Given the description of an element on the screen output the (x, y) to click on. 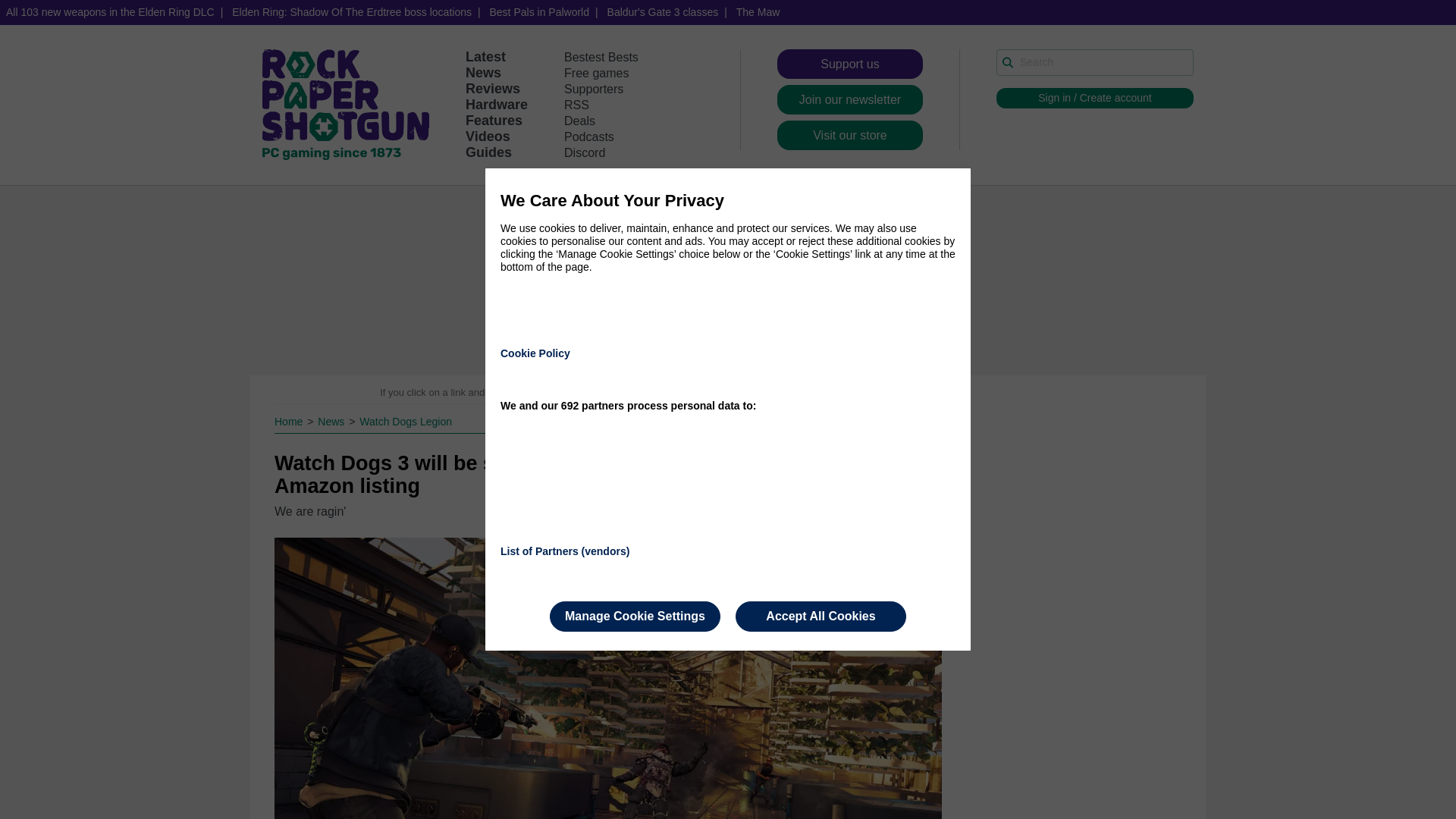
Home (290, 421)
The Maw (758, 12)
Discord (584, 152)
Join our newsletter (850, 99)
The Maw (758, 12)
Baldur's Gate 3 classes (663, 12)
Deals (579, 120)
Support us (850, 63)
Bestest Bests (601, 56)
Discord (584, 152)
Hardware (496, 104)
RSS (576, 104)
Deals (579, 120)
Best Pals in Palworld (539, 12)
All 103 new weapons in the Elden Ring DLC (110, 12)
